Given the description of an element on the screen output the (x, y) to click on. 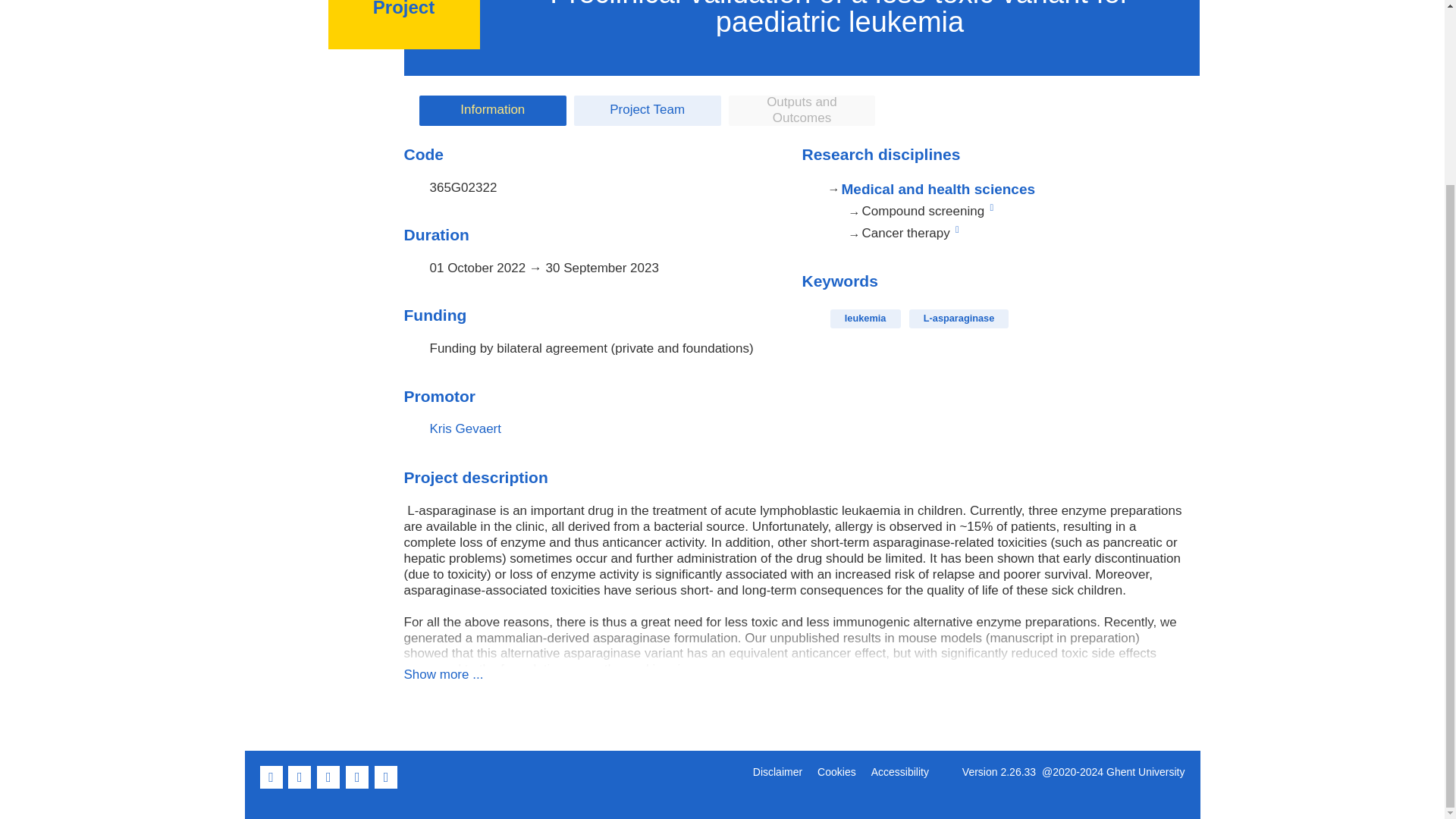
Cookies (836, 771)
Twitter (301, 784)
LinkedIn (329, 784)
Disclaimer (777, 771)
Project Team (646, 110)
Show more ... (443, 674)
Kris Gevaert (464, 428)
Project Team (646, 110)
YouTube (358, 784)
Facebook (272, 784)
